Given the description of an element on the screen output the (x, y) to click on. 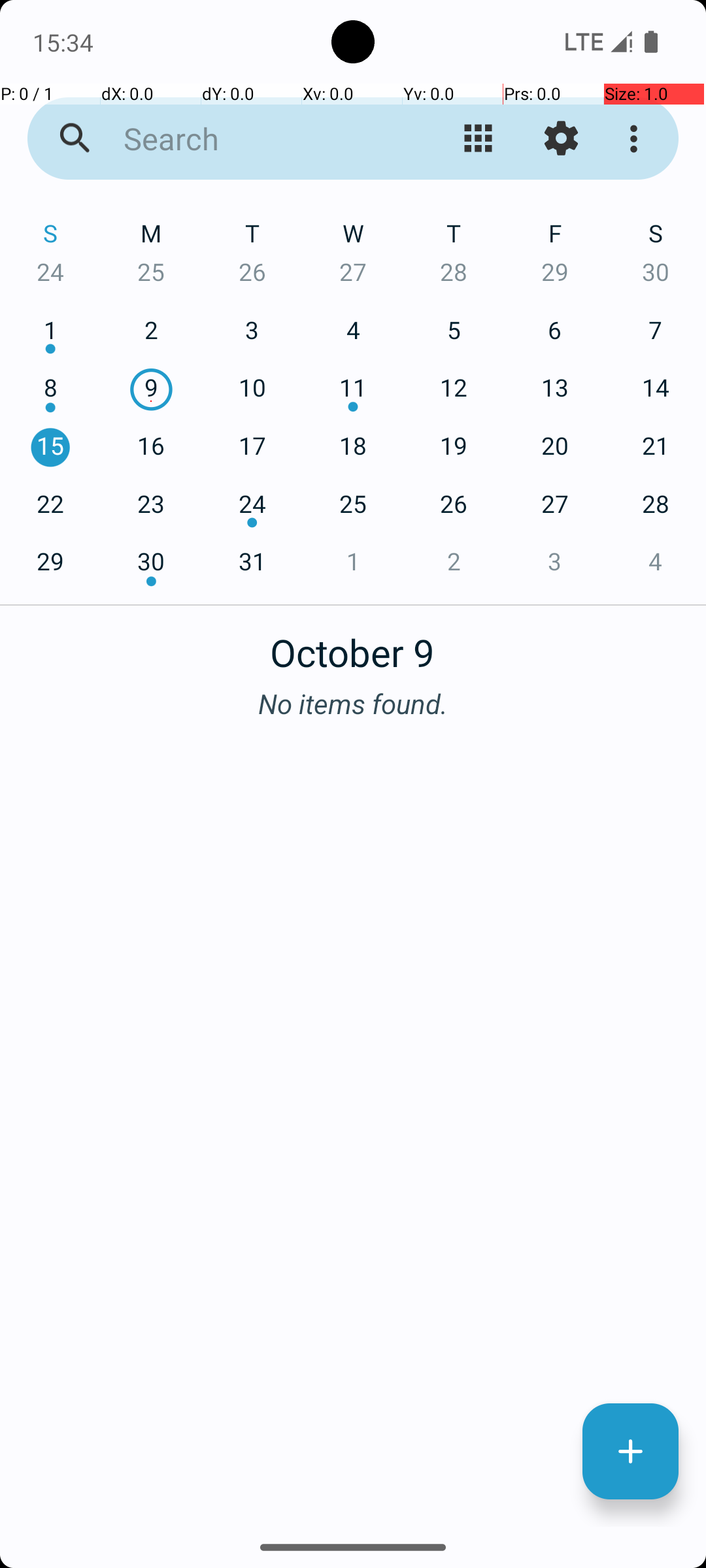
October 9 Element type: android.widget.TextView (352, 644)
